Given the description of an element on the screen output the (x, y) to click on. 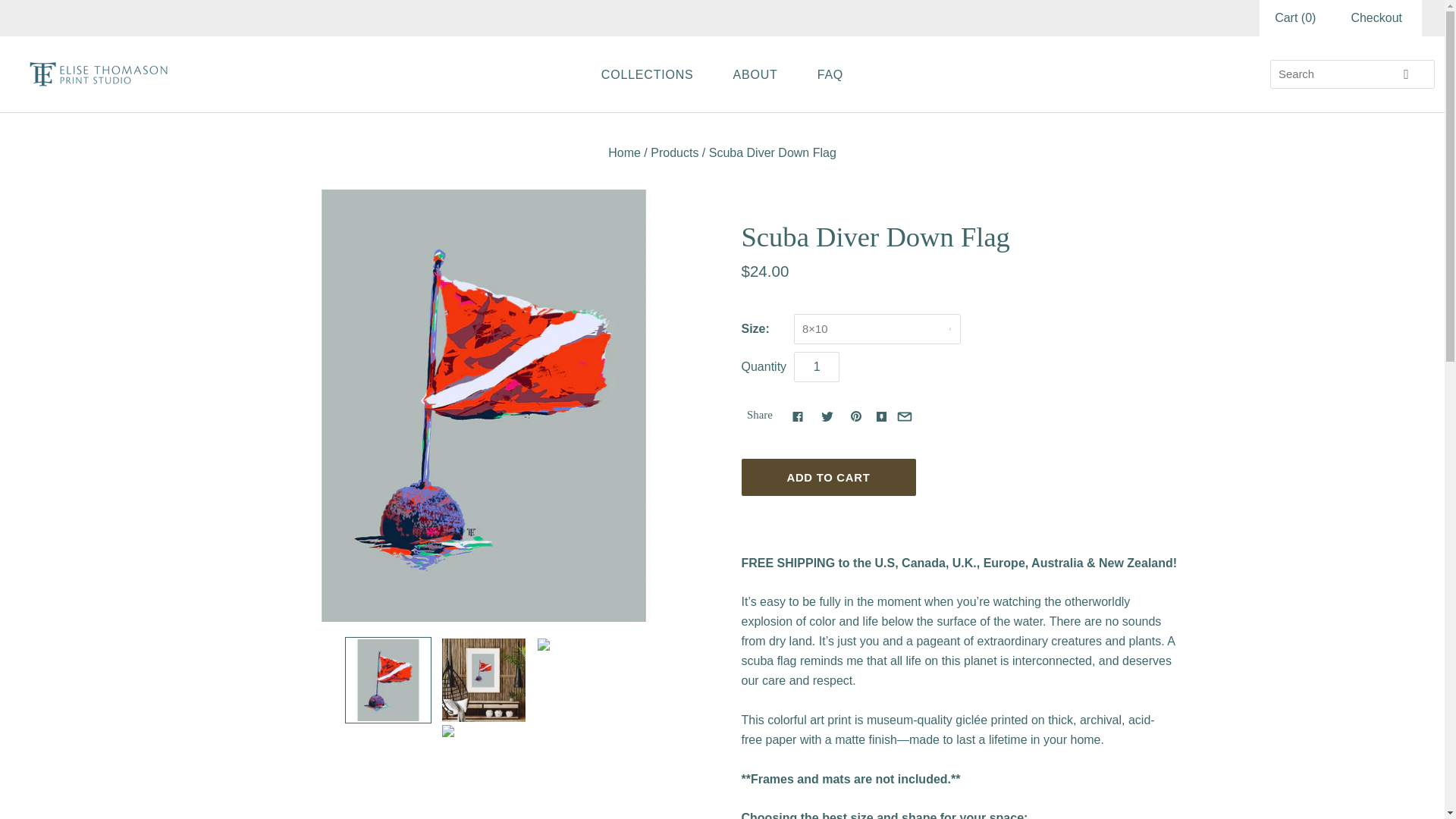
ABOUT (755, 74)
Home (624, 152)
1 (816, 367)
Checkout (1375, 17)
FAQ (830, 74)
Add to cart (828, 477)
Add to cart (828, 477)
COLLECTIONS (646, 74)
Products (674, 152)
